Given the description of an element on the screen output the (x, y) to click on. 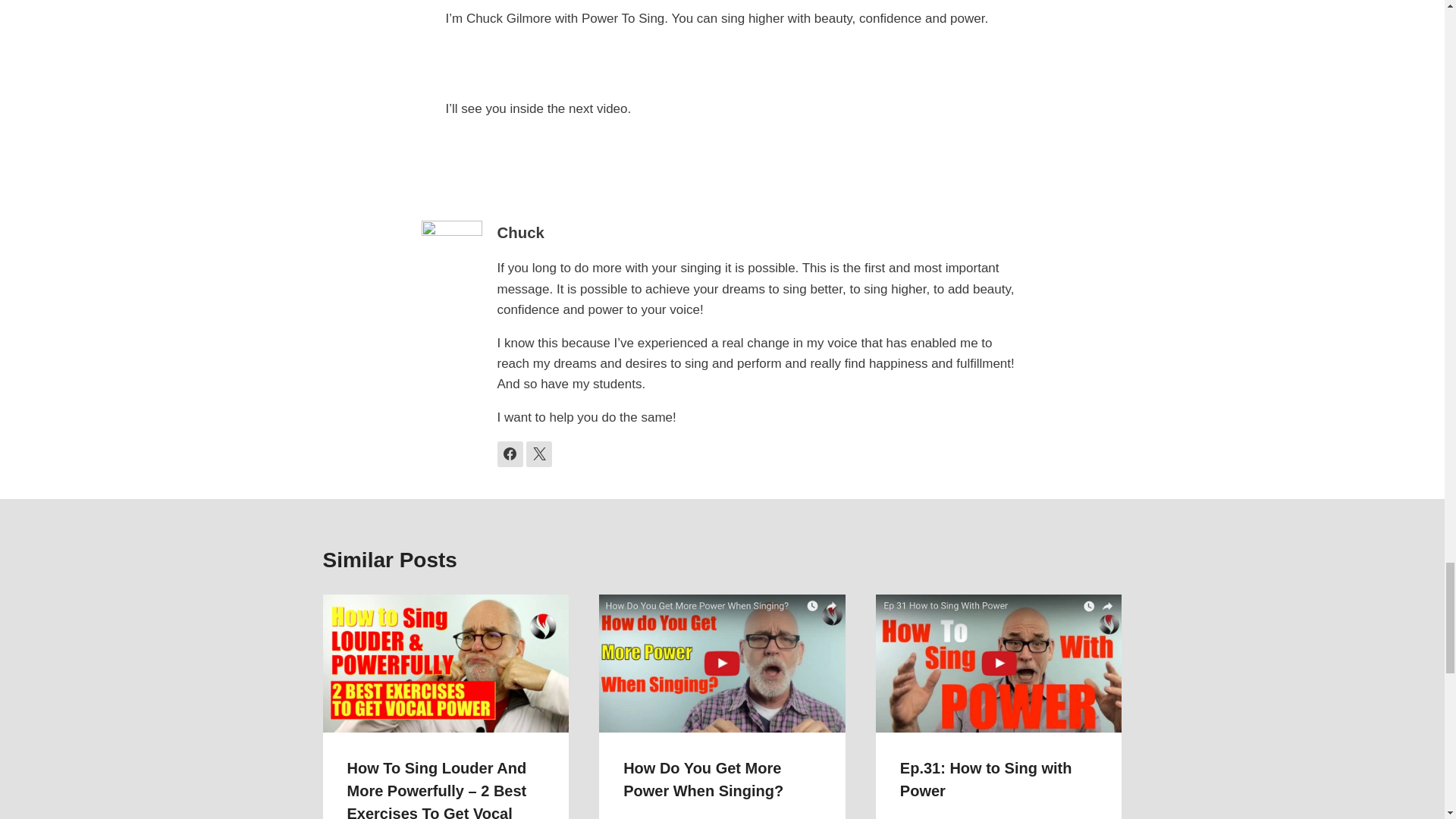
Ep.31: How to Sing with Power (985, 779)
How Do You Get More Power When Singing? (703, 779)
Chuck (520, 232)
Follow Chuck on X formerly Twitter (538, 453)
Posts by Chuck (520, 232)
Follow Chuck on Facebook (509, 453)
